Given the description of an element on the screen output the (x, y) to click on. 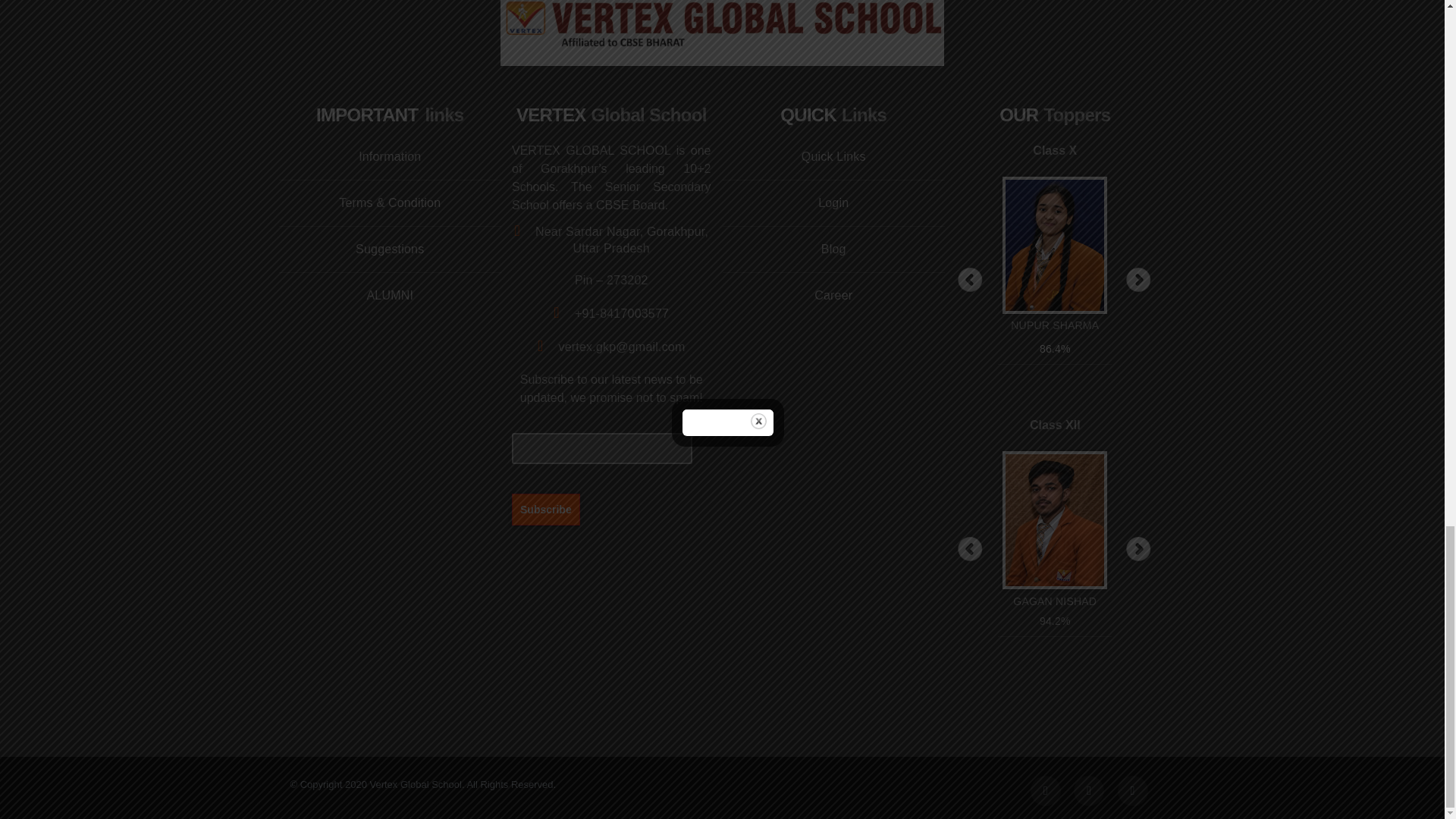
Subscribe (545, 508)
